Given the description of an element on the screen output the (x, y) to click on. 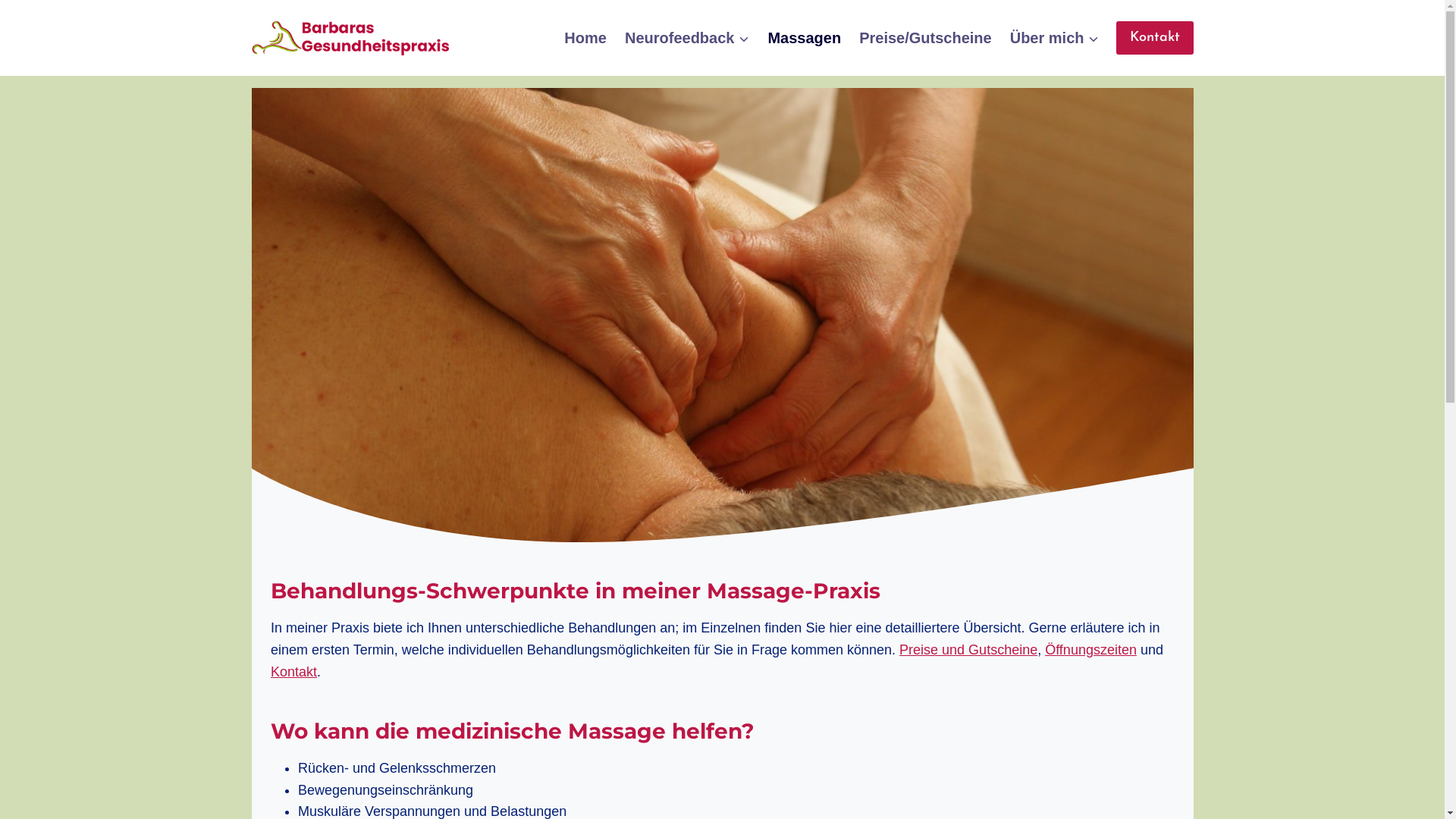
Kontakt Element type: text (1154, 37)
Kontakt Element type: text (293, 671)
Massagen Element type: text (804, 37)
Neurofeedback Element type: text (687, 37)
Preise/Gutscheine Element type: text (925, 37)
Home Element type: text (585, 37)
Preise und Gutscheine Element type: text (968, 649)
